Given the description of an element on the screen output the (x, y) to click on. 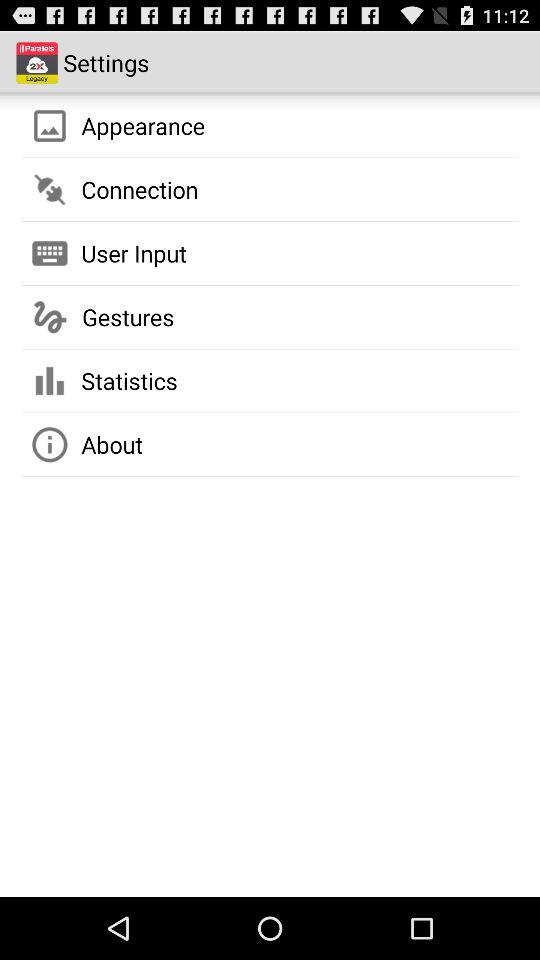
click the item below user input item (128, 317)
